Given the description of an element on the screen output the (x, y) to click on. 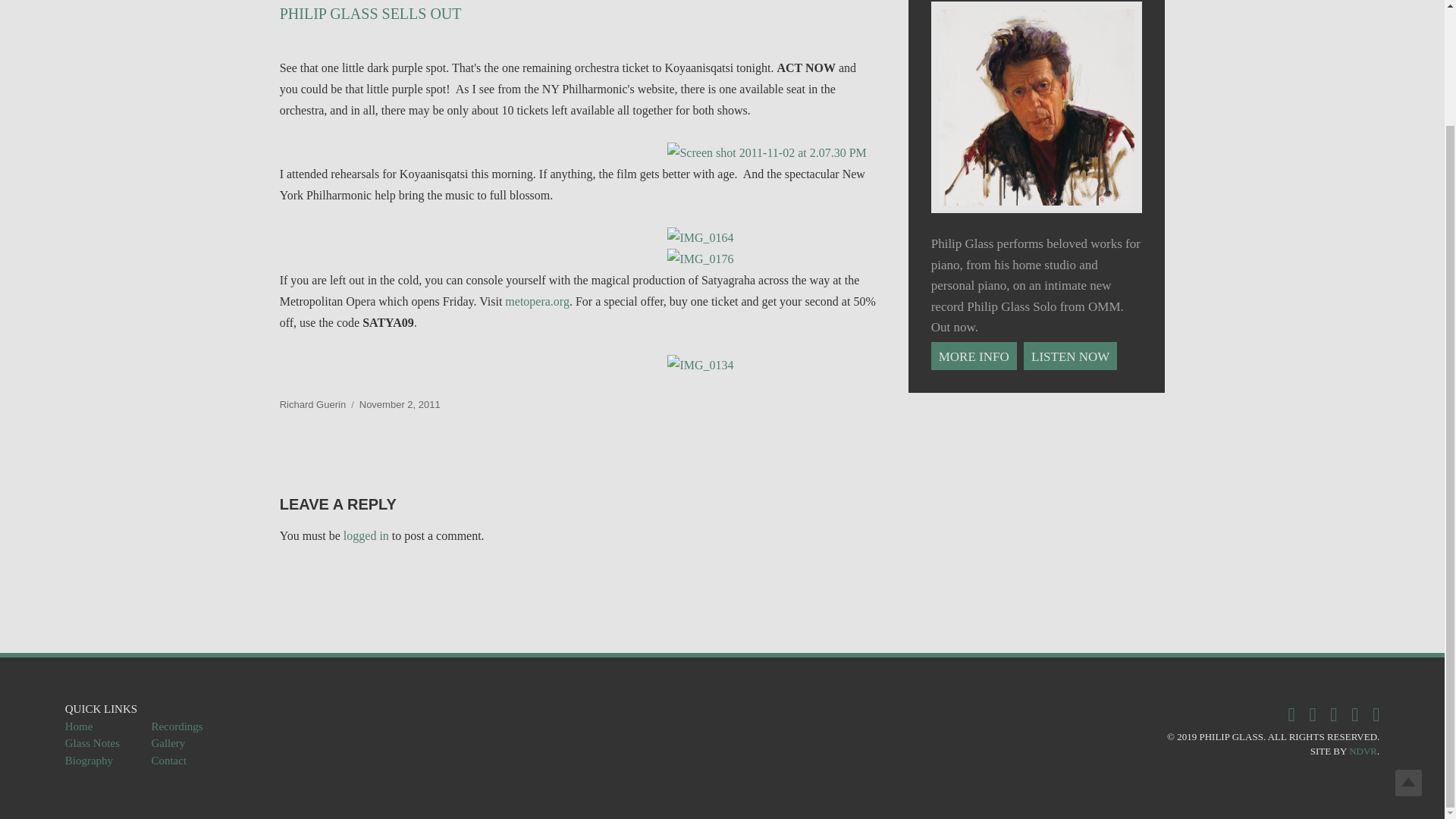
Home (79, 726)
metopera.org (537, 300)
MORE INFO (975, 356)
NDVR (1363, 750)
Glass Notes (92, 743)
Screen shot 2011-11-02 at 2.07.30 PM (771, 152)
logged in (365, 535)
Contact (168, 760)
Scroll to Top (1408, 645)
Biography (89, 760)
Gallery (167, 743)
Richard Guerin (312, 404)
Recordings (176, 726)
November 2, 2011 (400, 404)
LISTEN NOW (1072, 356)
